Given the description of an element on the screen output the (x, y) to click on. 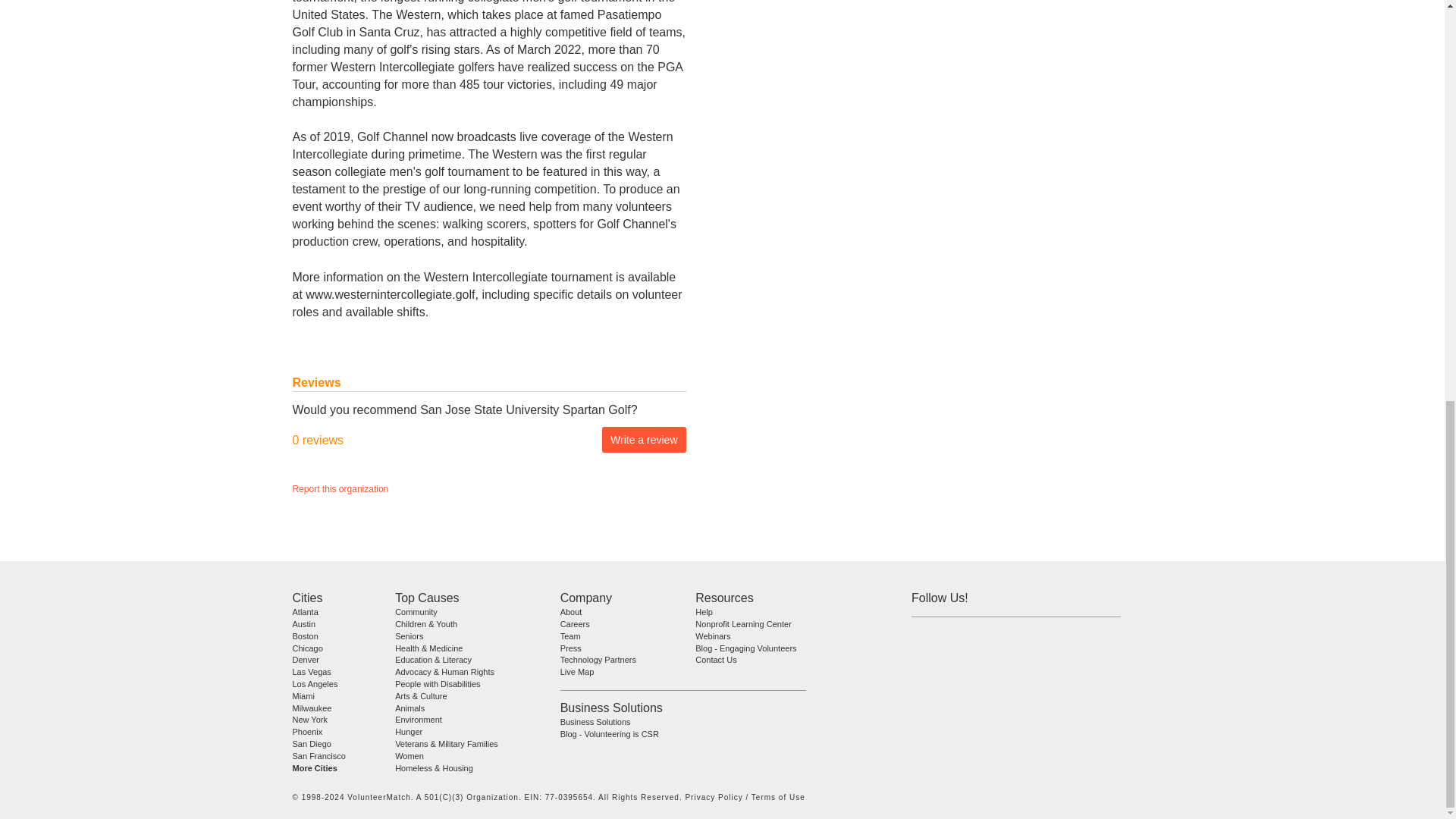
Miami (303, 696)
Los Angeles (314, 683)
Report this organization (340, 489)
Las Vegas (311, 671)
New York (309, 718)
Chicago (307, 646)
Milwaukee (311, 706)
Austin (303, 623)
Boston (305, 634)
Atlanta (305, 611)
Write a review (643, 439)
Denver (305, 659)
